Given the description of an element on the screen output the (x, y) to click on. 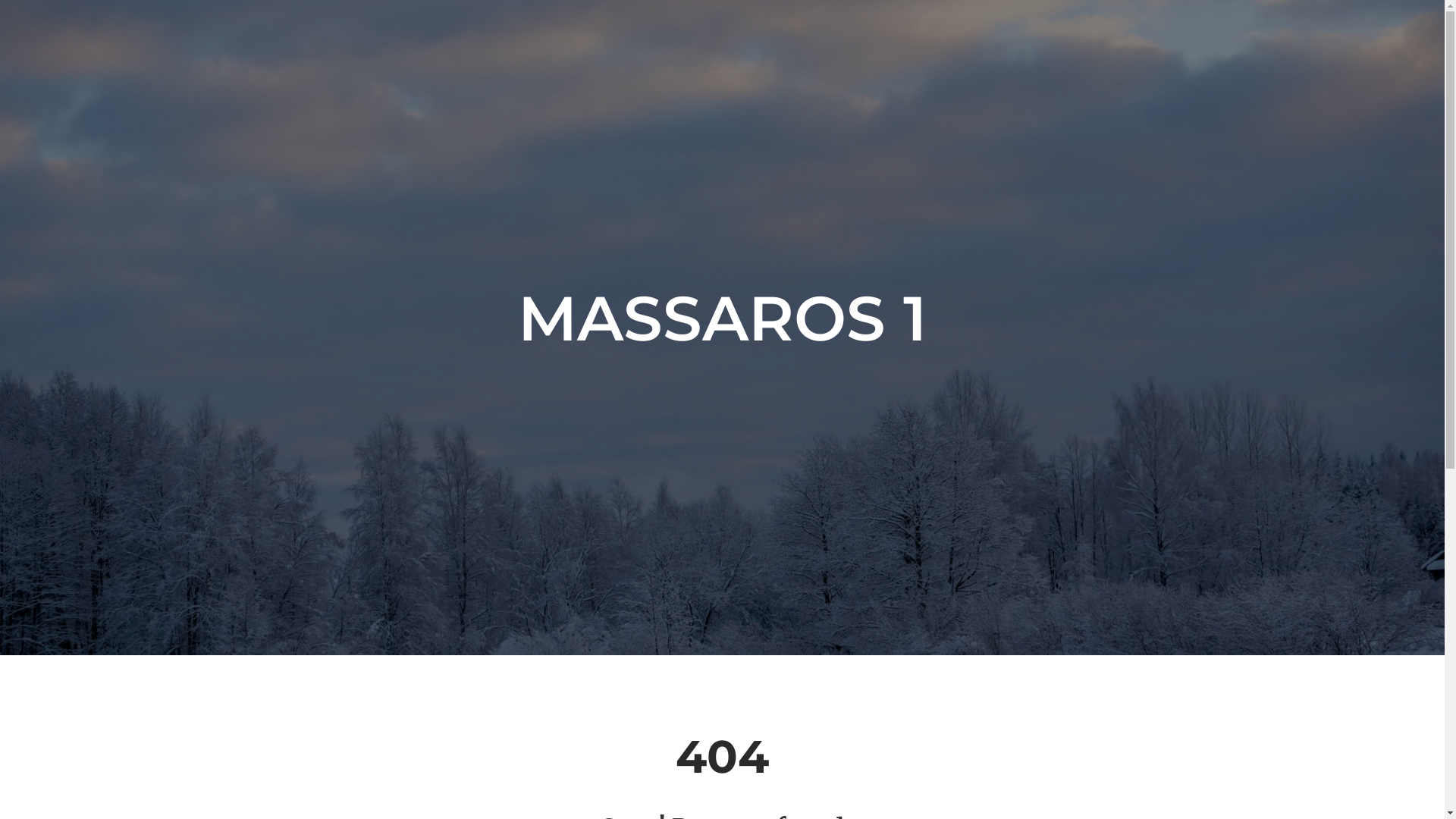
MASSAROS 1 Element type: text (721, 318)
